Given the description of an element on the screen output the (x, y) to click on. 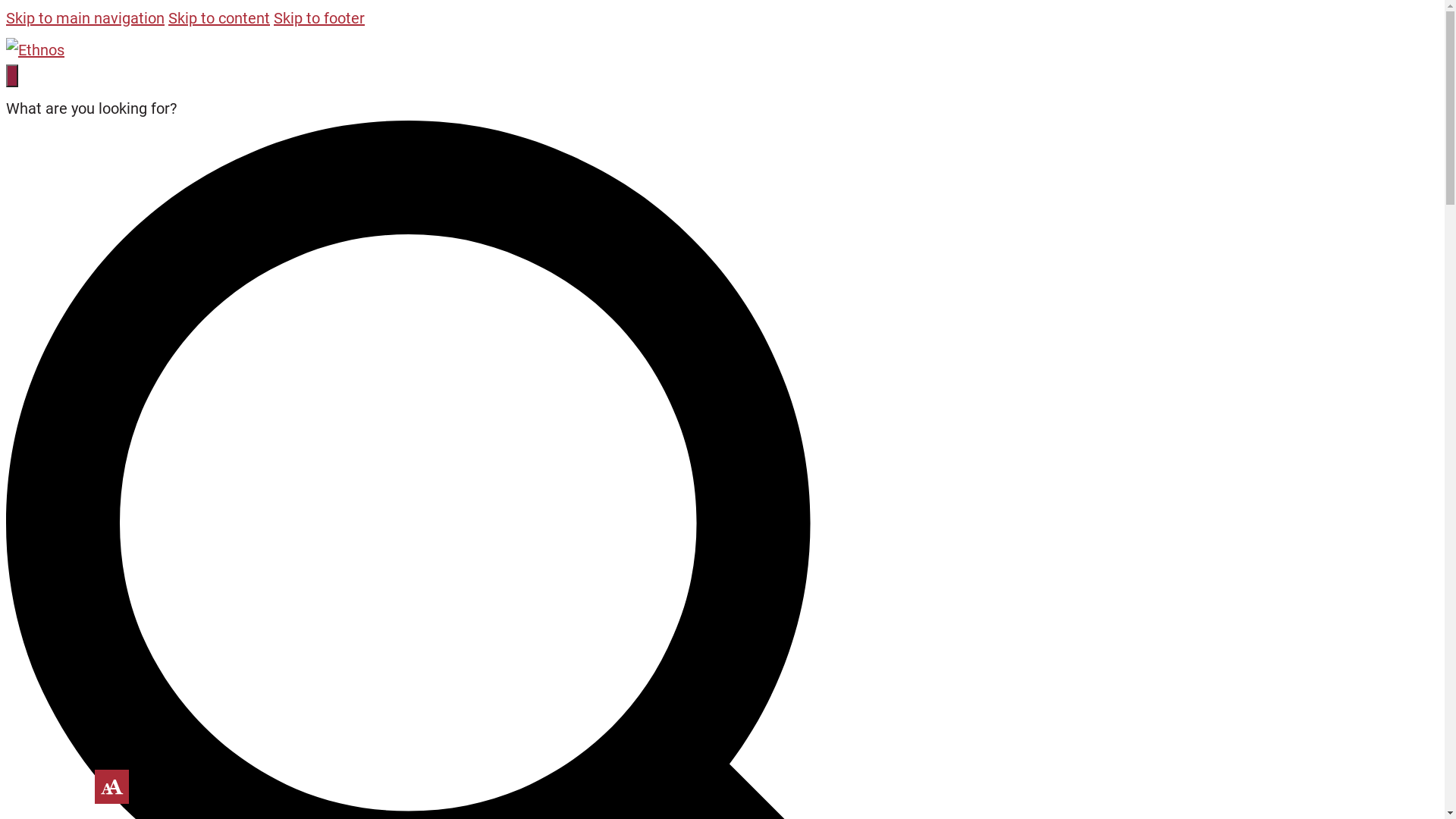
Skip to content Element type: text (218, 18)
Skip to main navigation Element type: text (85, 18)
Skip to footer Element type: text (318, 18)
